Given the description of an element on the screen output the (x, y) to click on. 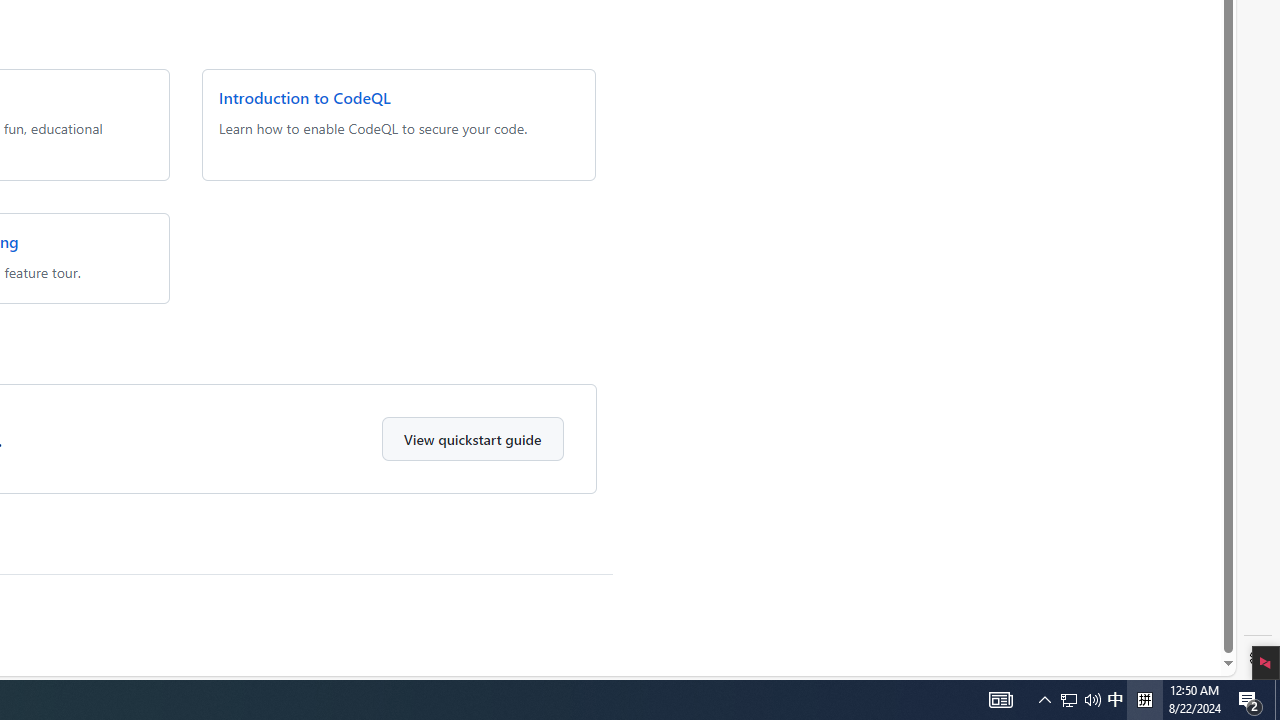
View quickstart guide (472, 438)
Introduction to CodeQL (303, 97)
